Given the description of an element on the screen output the (x, y) to click on. 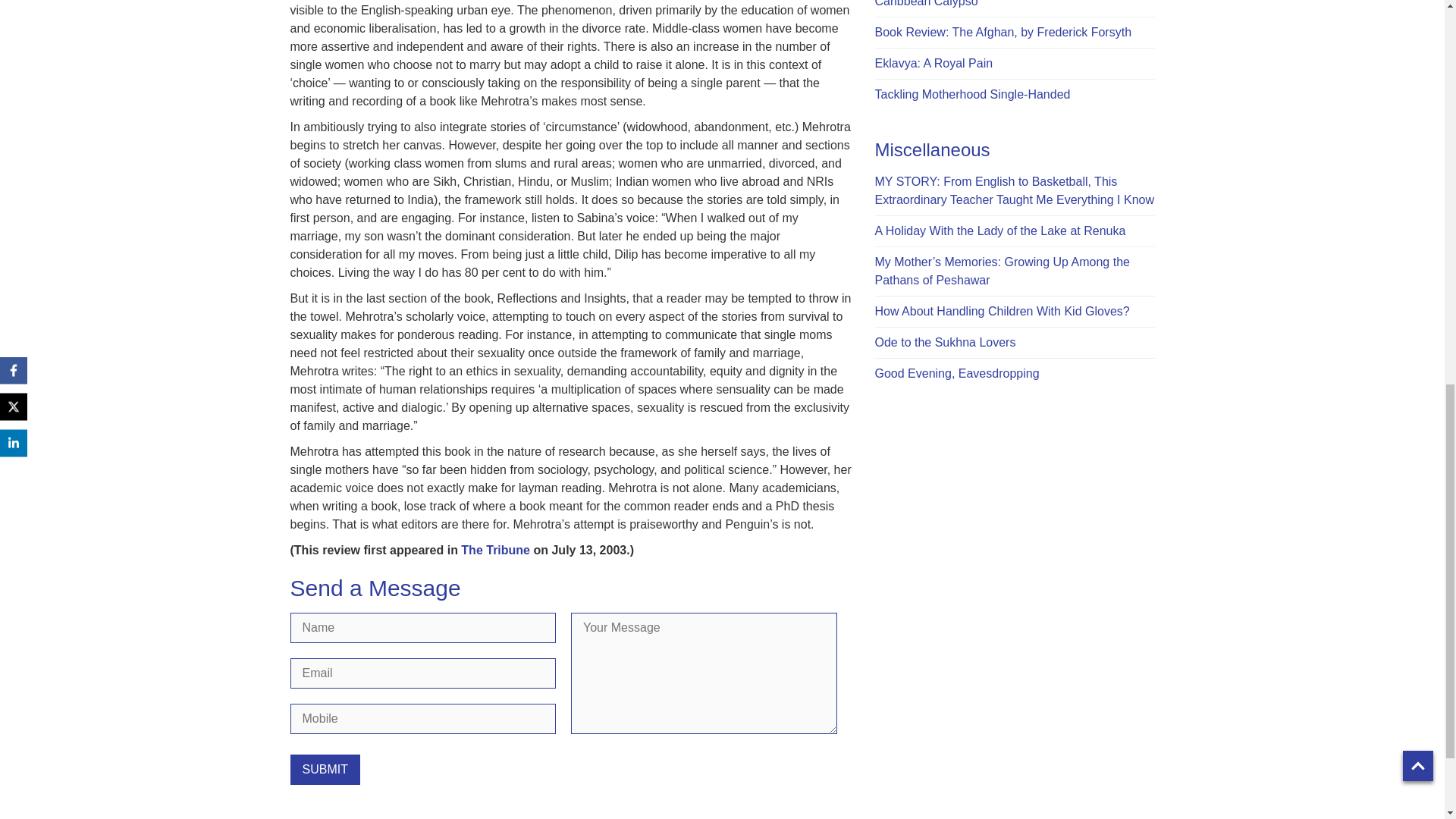
How About Handling Children With Kid Gloves? (1002, 310)
Ode to the Sukhna Lovers (945, 341)
Submit (324, 769)
A Holiday With the Lady of the Lake at Renuka (1000, 230)
Miscellaneous (932, 149)
Book Review: The Afghan, by Frederick Forsyth (1003, 31)
Tackling Motherhood Single-Handed (972, 93)
Eklavya: A Royal Pain (933, 62)
